Given the description of an element on the screen output the (x, y) to click on. 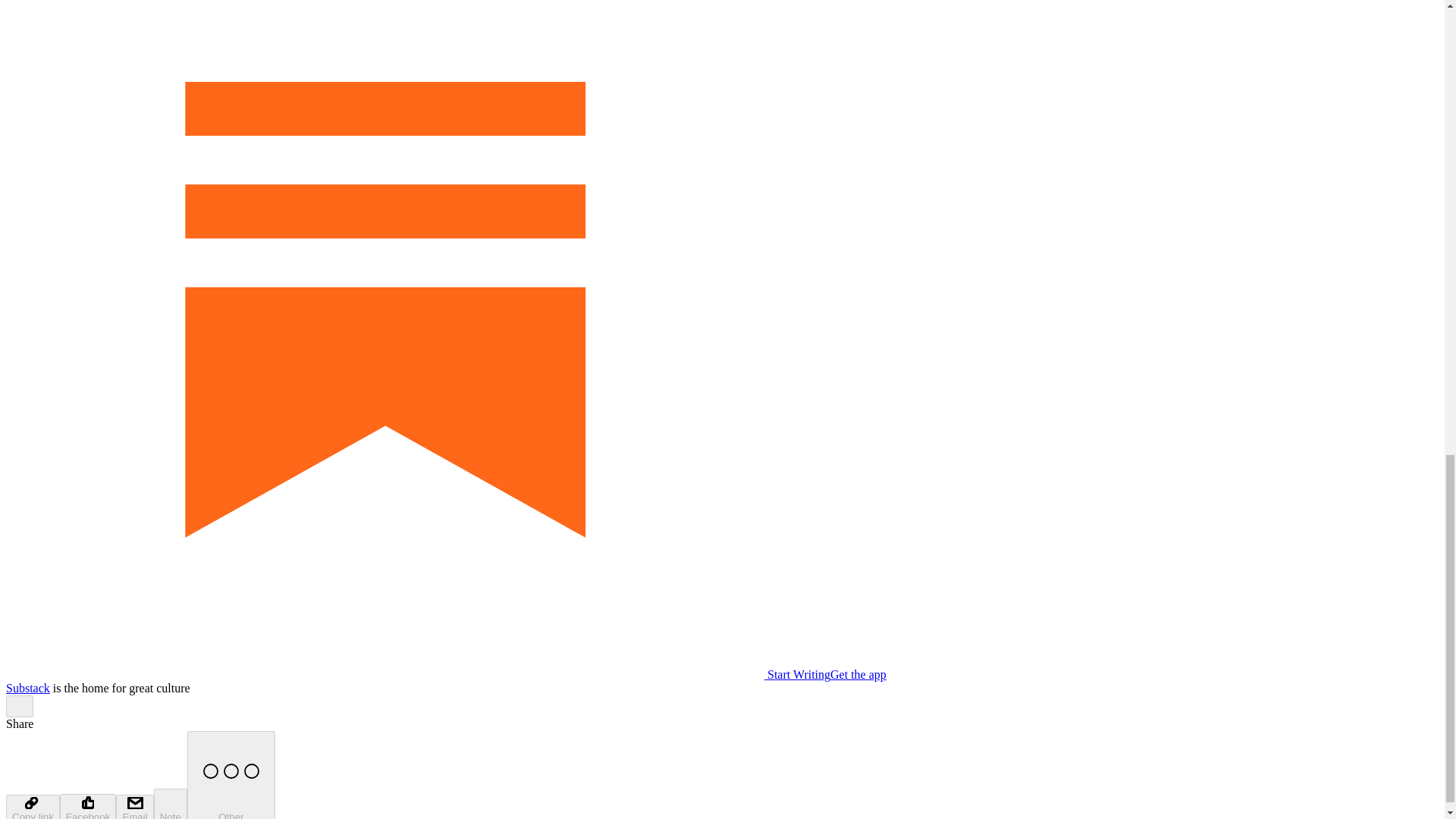
Get the app (857, 674)
Start Writing (417, 674)
Substack (27, 687)
